Given the description of an element on the screen output the (x, y) to click on. 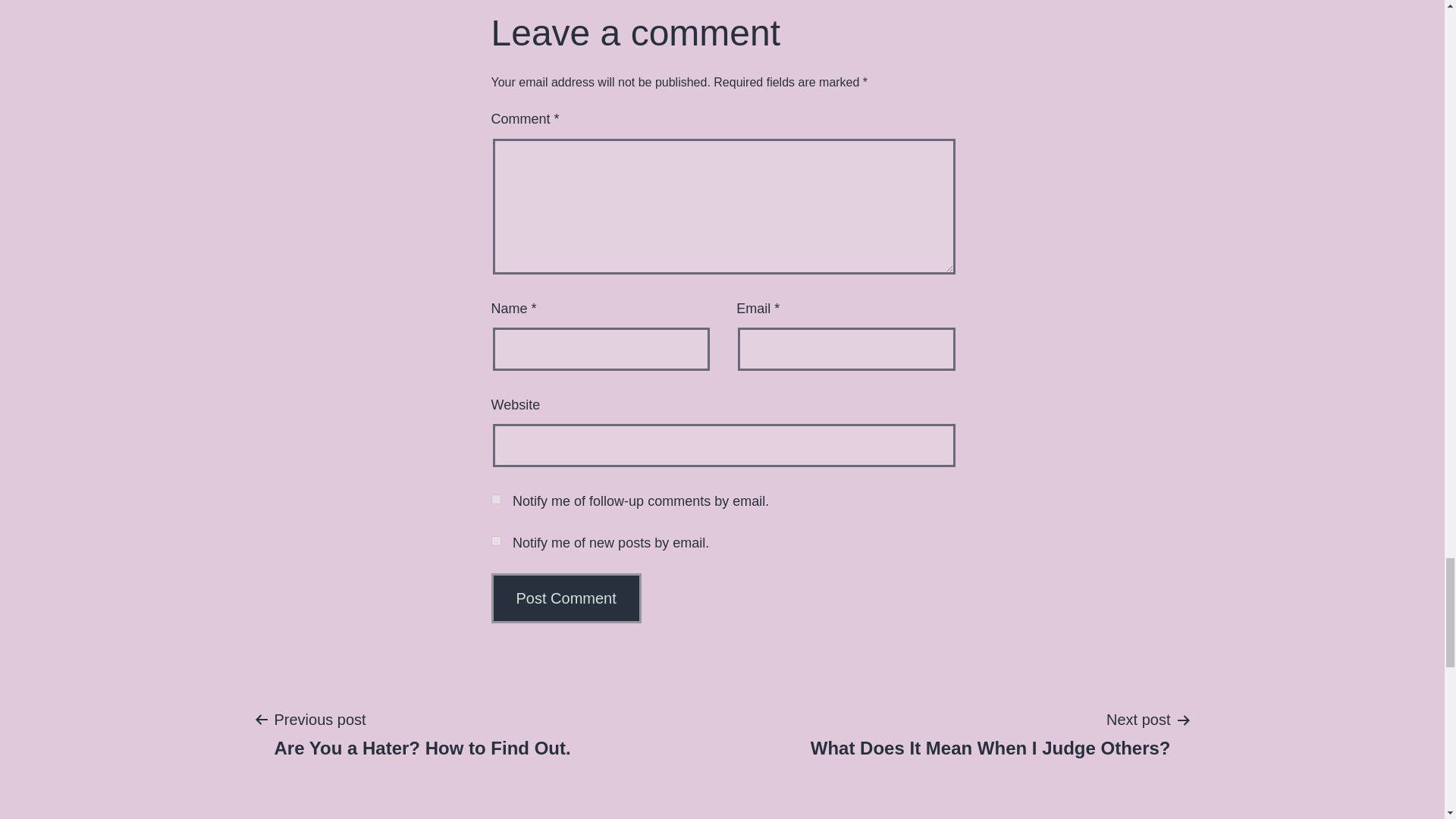
Post Comment (567, 598)
Post Comment (567, 598)
